Given the description of an element on the screen output the (x, y) to click on. 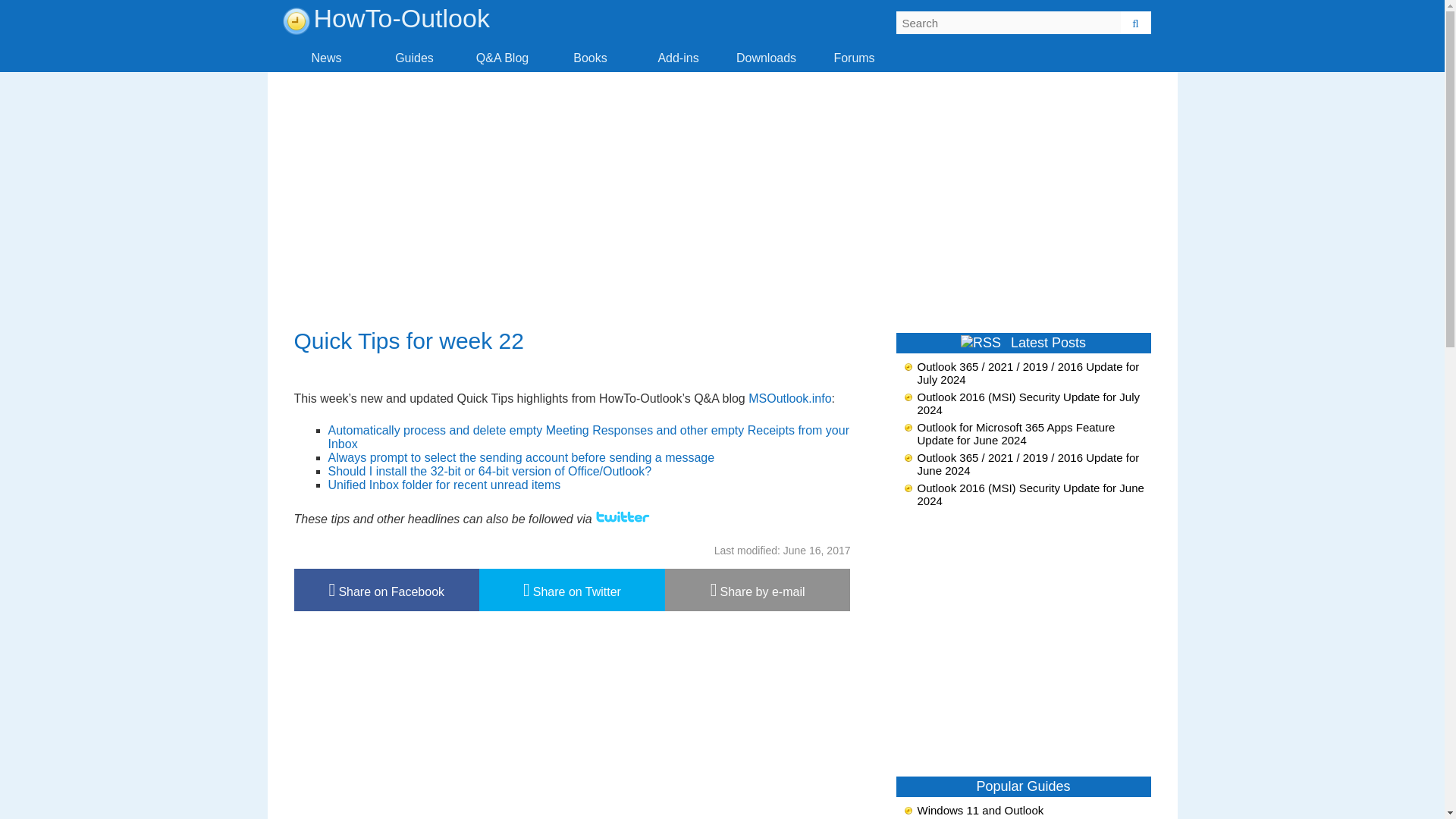
Share by e-mail (757, 589)
Add-ins (678, 57)
Robert Sparnaaij on Twitter (622, 518)
Tweet: Quick Tips for week 22 (572, 589)
Share on Twitter (572, 589)
MSOutlook.info (789, 398)
Unified Inbox folder for recent unread items (443, 484)
Quick Tips for week 22 (409, 340)
Outlook for Microsoft 365 Apps Feature Update for June 2024 (1016, 433)
Forums (853, 57)
Downloads (766, 57)
Latest Posts (1048, 342)
